Given the description of an element on the screen output the (x, y) to click on. 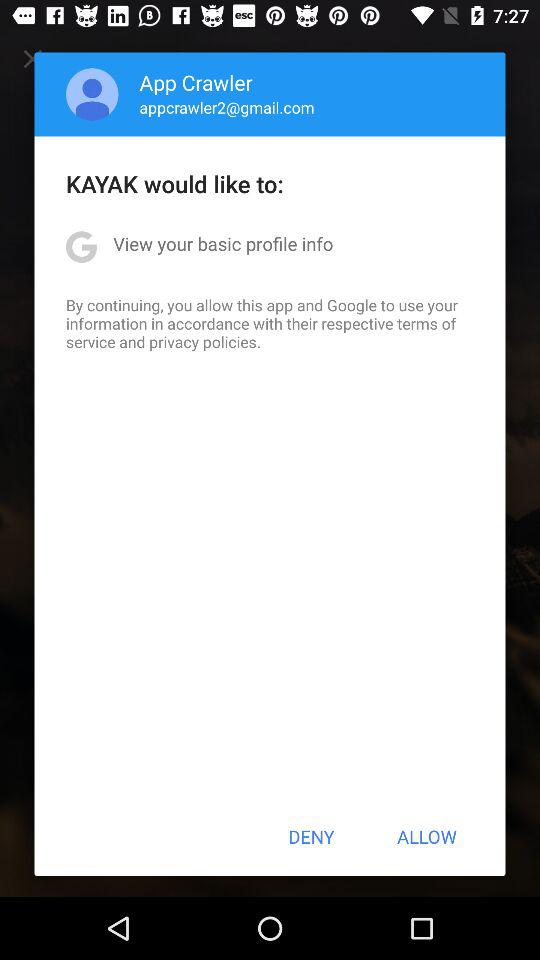
turn on icon below the app crawler app (226, 107)
